Given the description of an element on the screen output the (x, y) to click on. 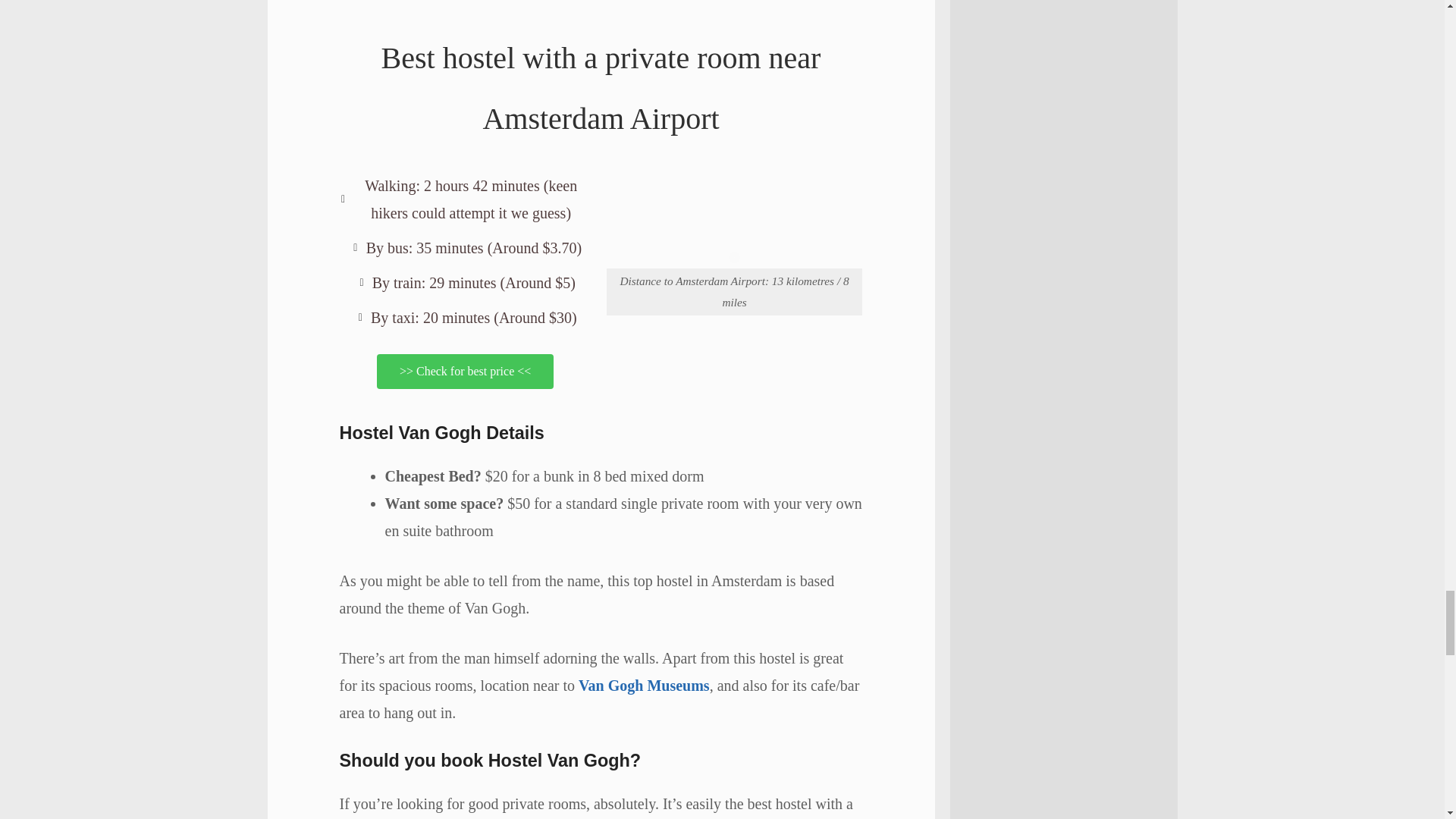
Van Gogh Museums (644, 685)
